Given the description of an element on the screen output the (x, y) to click on. 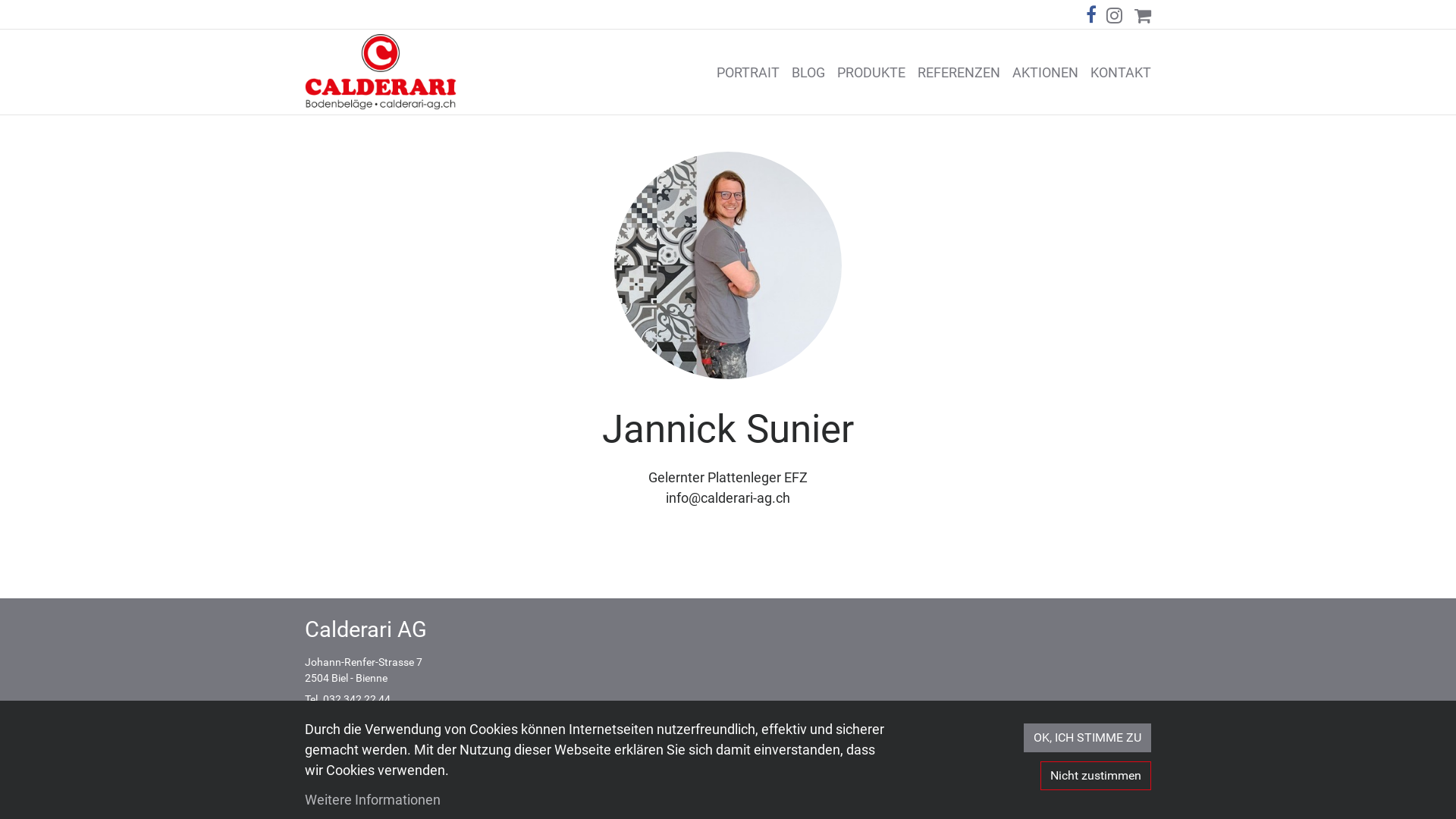
Startseite Element type: hover (380, 71)
Datenschutzgesetz Element type: text (349, 757)
AKTIONEN Element type: text (1045, 71)
Shop Element type: text (1142, 13)
Drupal Element type: text (831, 800)
Direkt zum Inhalt Element type: text (0, 0)
Weitere Informationen Element type: text (372, 799)
PRODUKTE Element type: text (871, 71)
BLOG Element type: text (808, 71)
Instagram Element type: text (1113, 13)
info@calderari-ag.ch Element type: text (359, 736)
REFERENZEN Element type: text (958, 71)
KONTAKT Element type: text (1120, 71)
032 342 22 46 Element type: text (358, 715)
Gassmann Digital AG Element type: text (478, 800)
032 342 22 44 Element type: text (356, 699)
PORTRAIT Element type: text (747, 71)
teilen Element type: text (1090, 14)
Nicht zustimmen Element type: text (1095, 775)
OK, ICH STIMME ZU Element type: text (1087, 737)
